Given the description of an element on the screen output the (x, y) to click on. 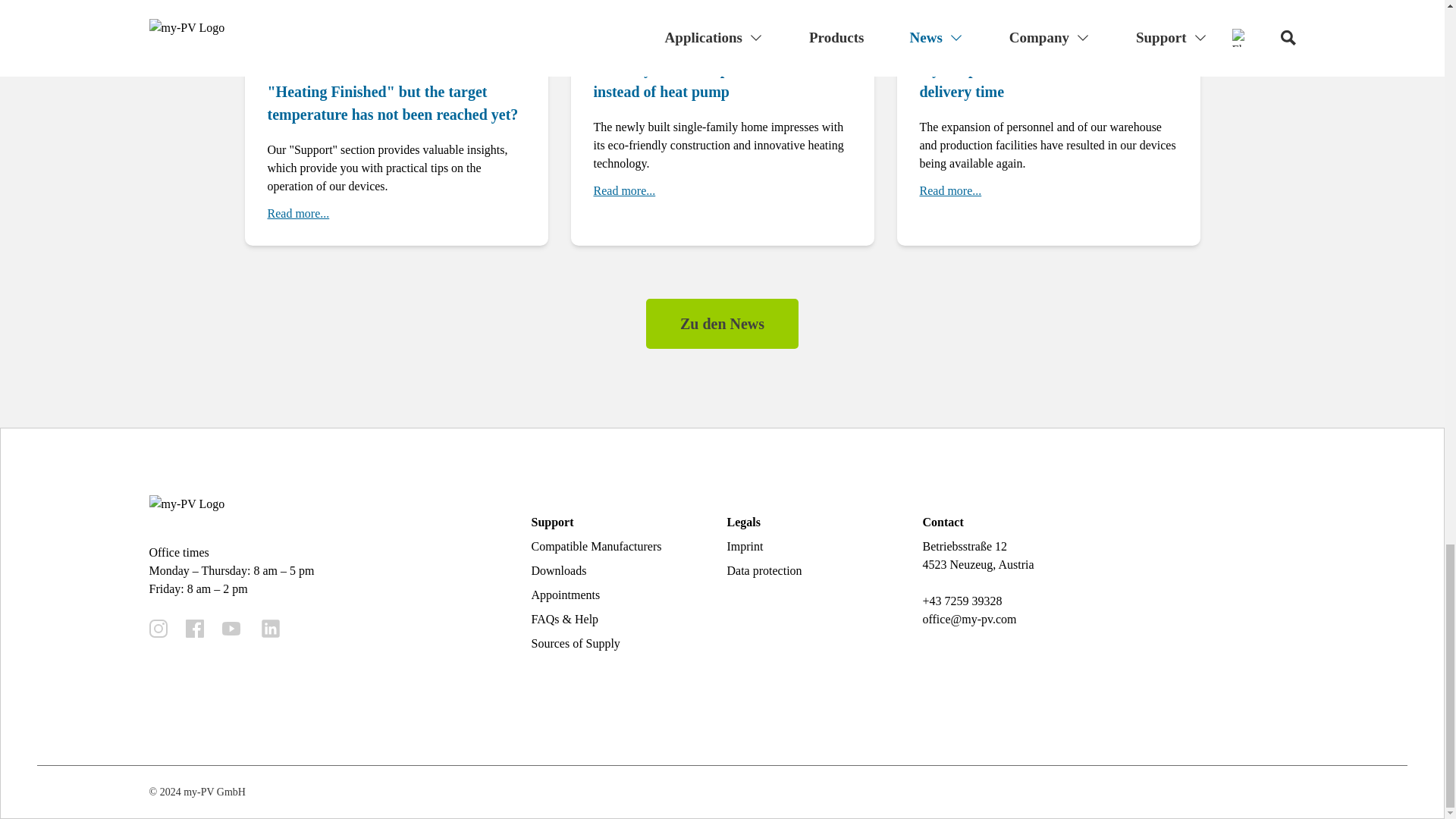
Compatible Manufacturers (596, 545)
Downloads (558, 570)
Data protection (764, 570)
Read more... (949, 190)
Read more... (623, 190)
Zu den News (721, 323)
Sources of Supply (575, 643)
Appointments (565, 594)
Read more... (297, 213)
Imprint (744, 545)
